Given the description of an element on the screen output the (x, y) to click on. 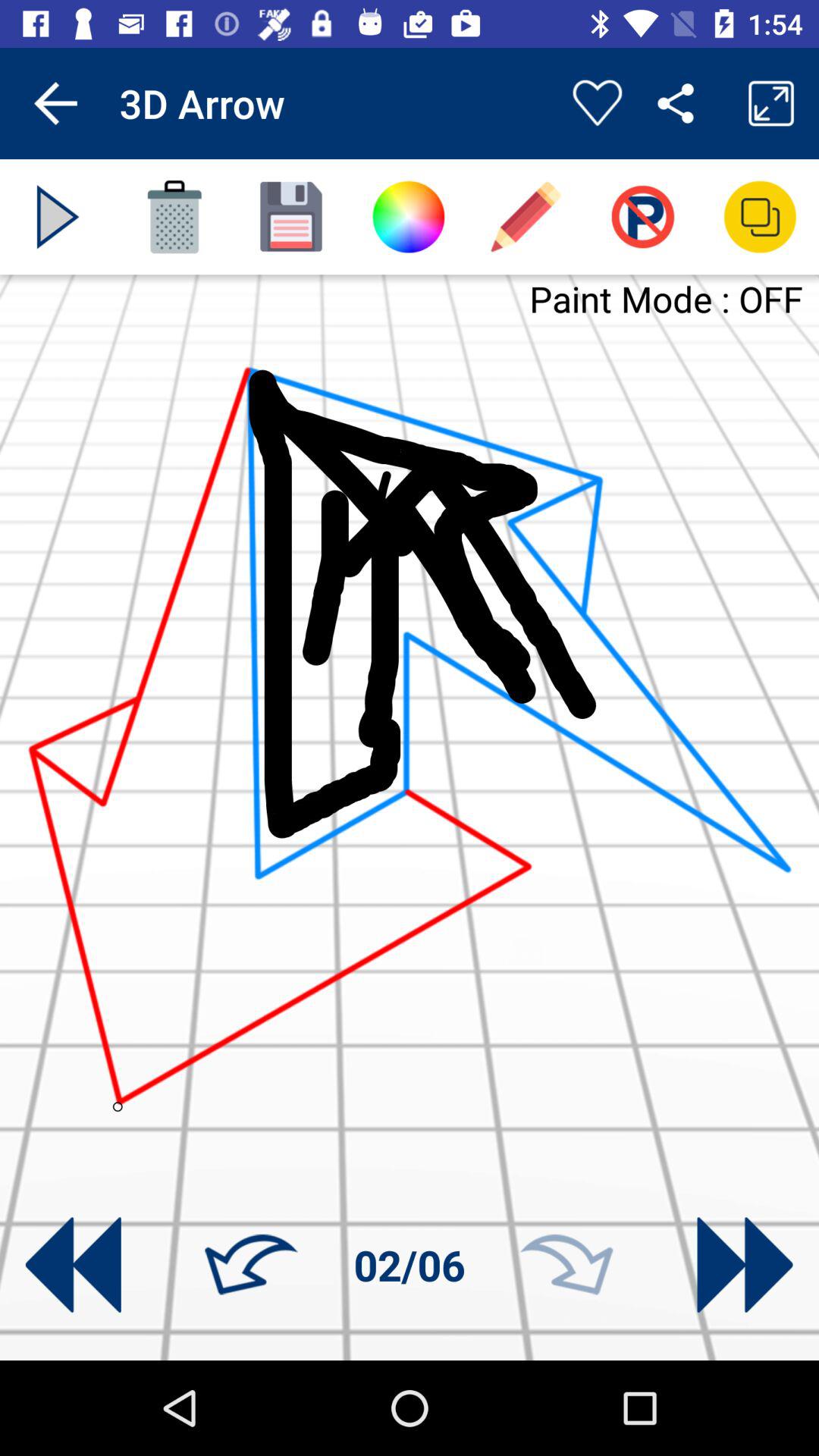
select a color (408, 216)
